Given the description of an element on the screen output the (x, y) to click on. 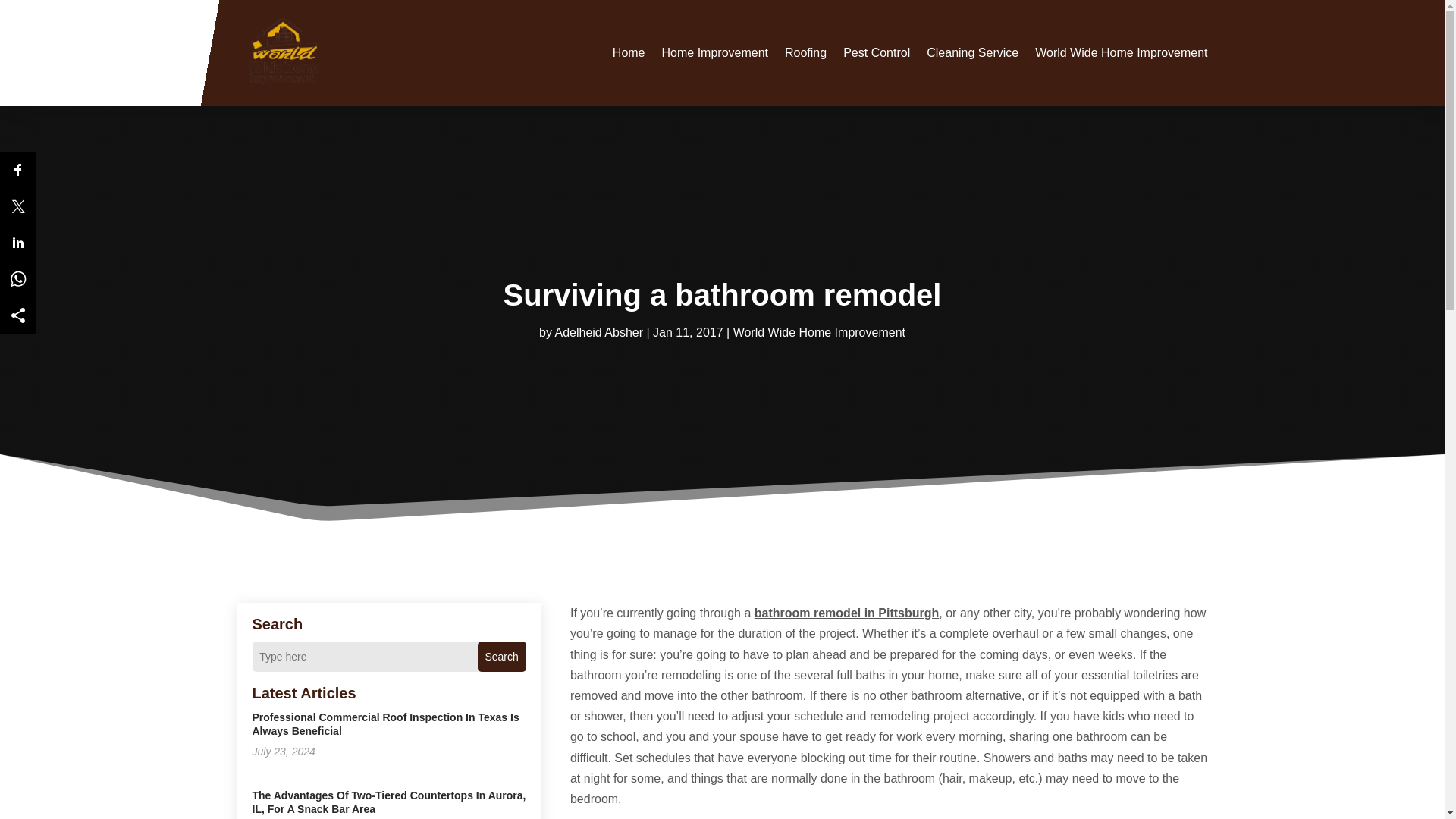
World Wide Home Improvement (819, 332)
Adelheid Absher (598, 332)
Search (501, 656)
Home Improvement (715, 52)
Cleaning Service (971, 52)
Posts by Adelheid Absher (598, 332)
World Wide Home Improvement (1121, 52)
